Given the description of an element on the screen output the (x, y) to click on. 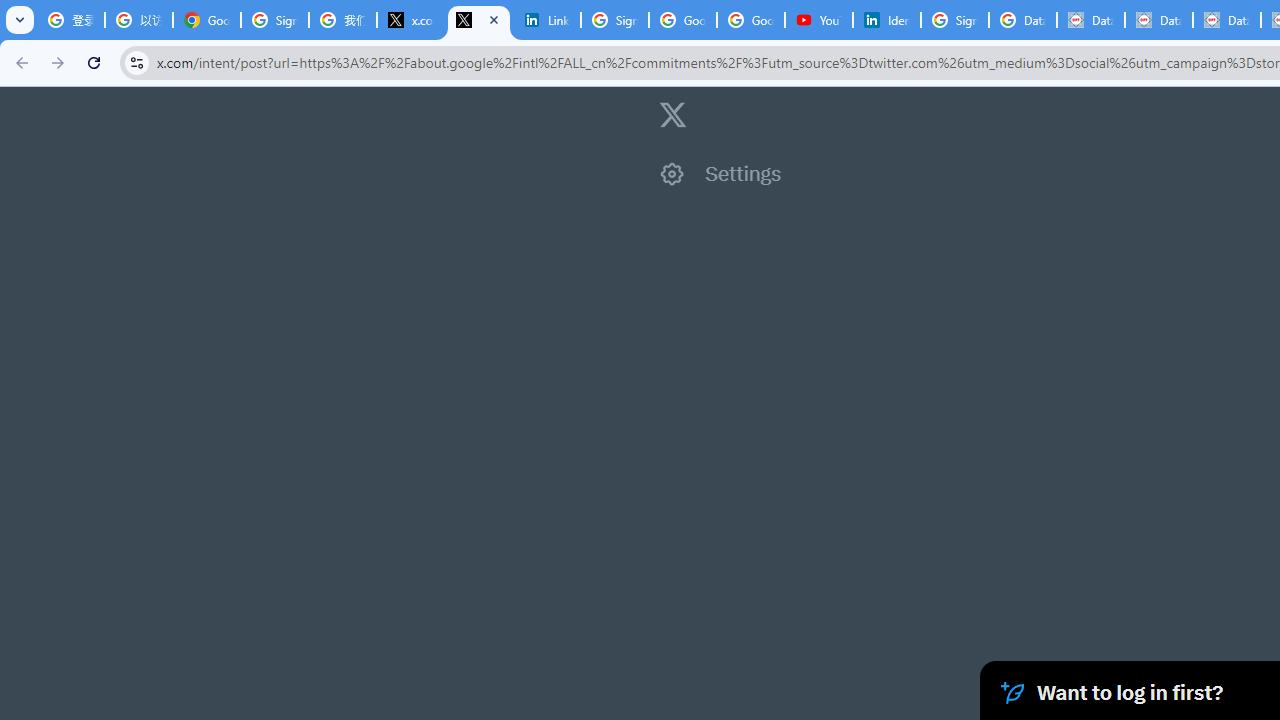
Sign in - Google Accounts (954, 20)
Sign in - Google Accounts (274, 20)
Data Privacy Framework (1226, 20)
Sign in - Google Accounts (614, 20)
X (479, 20)
